Given the description of an element on the screen output the (x, y) to click on. 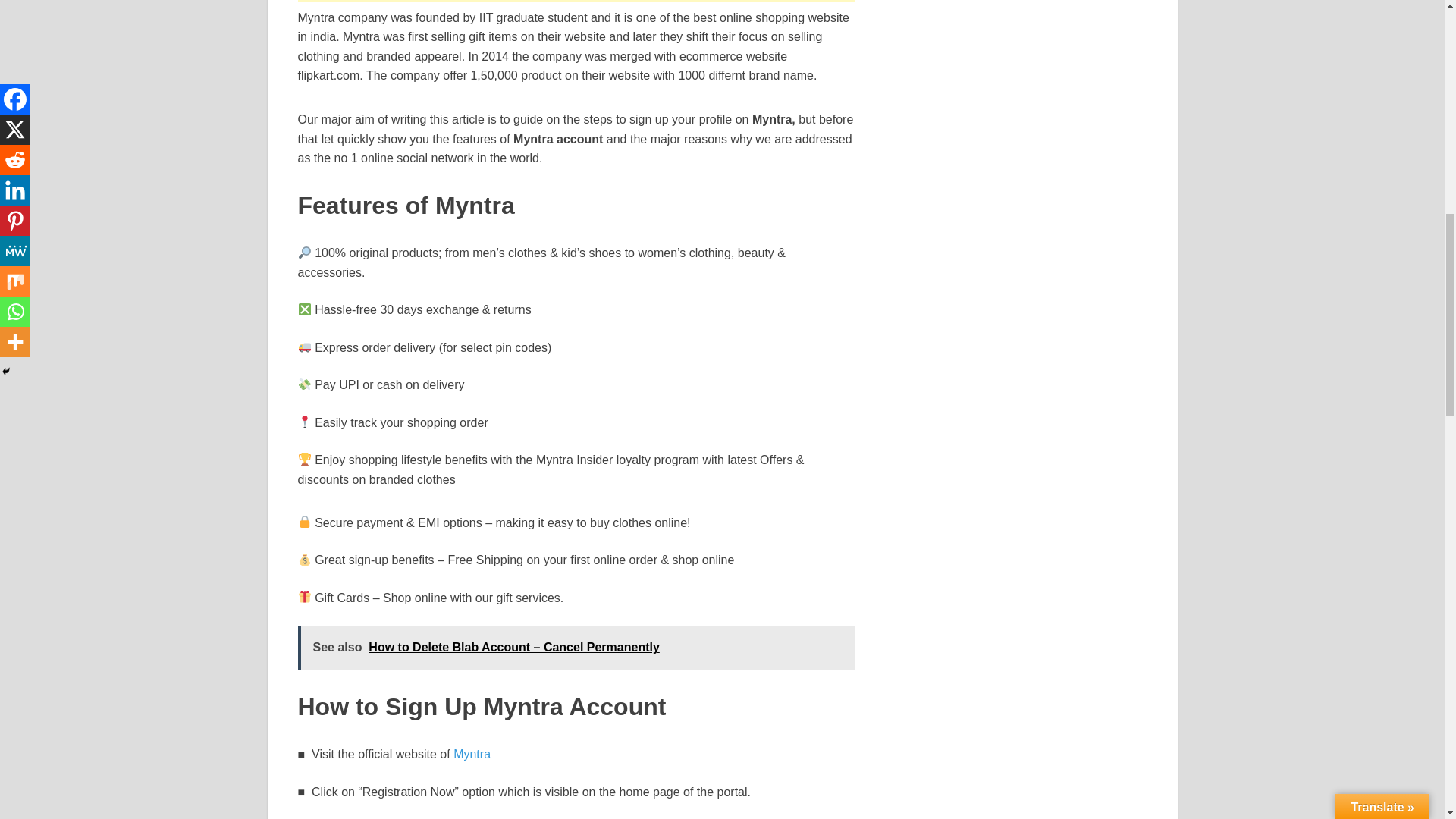
Myntra (471, 753)
